Given the description of an element on the screen output the (x, y) to click on. 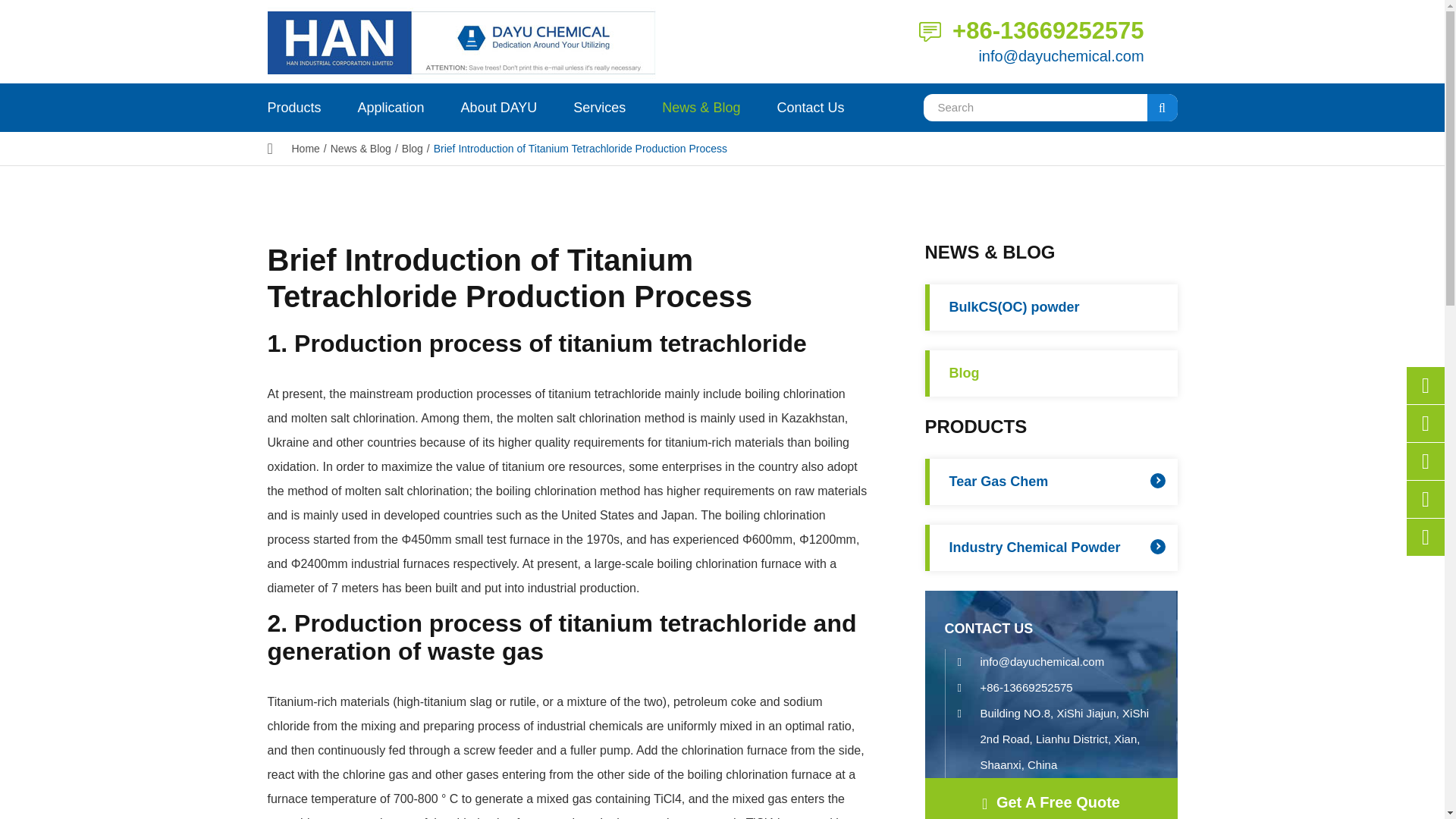
Services (599, 107)
Contact Us (810, 107)
SHAANXI DAYU CHEMICAL CO., LTD (487, 42)
submit (1161, 107)
About DAYU (499, 107)
Blog (412, 148)
Home (304, 148)
Products (293, 107)
Blog (412, 148)
Contact Us (929, 31)
Application (391, 107)
